Given the description of an element on the screen output the (x, y) to click on. 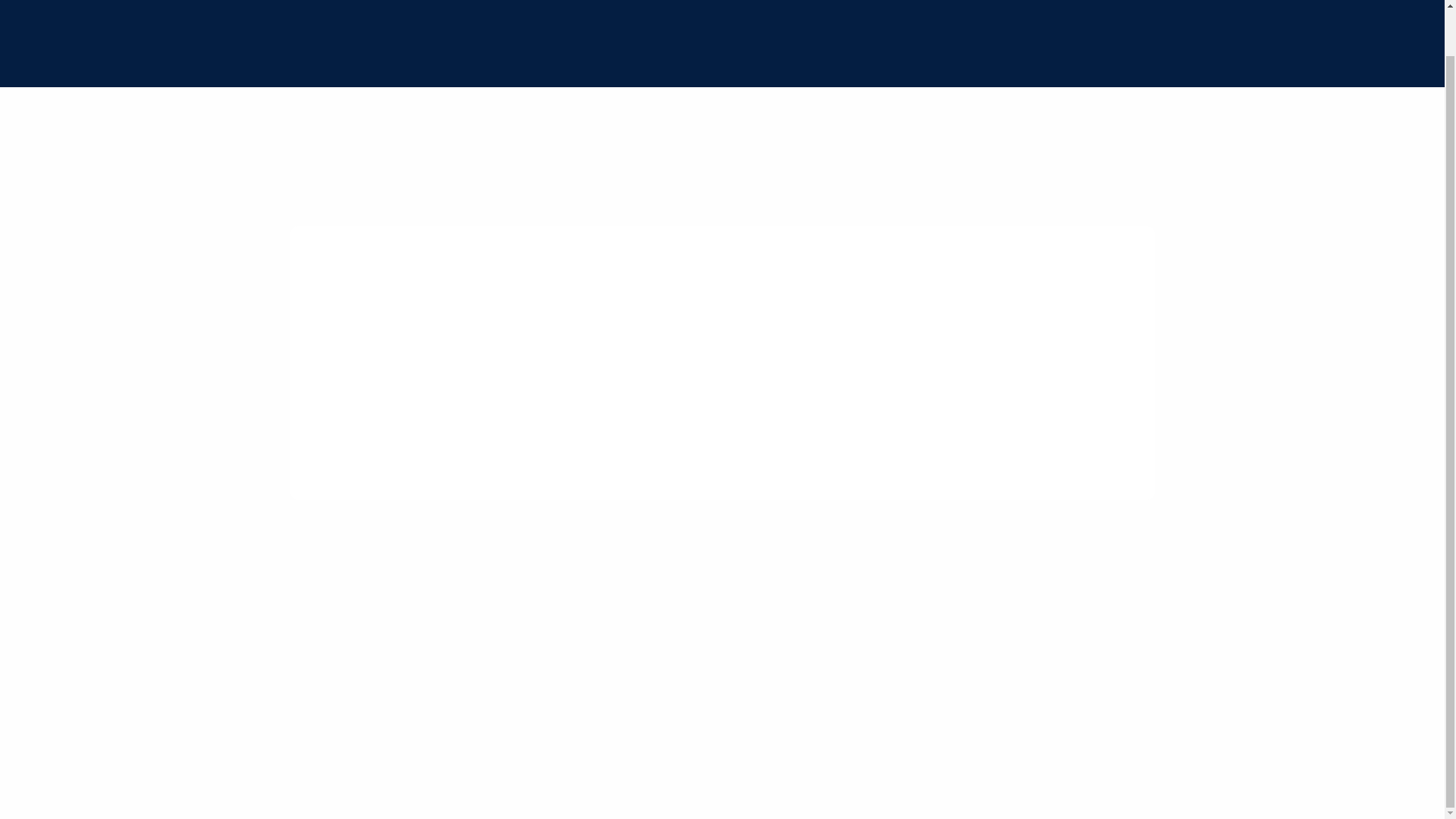
Search (382, 434)
